Given the description of an element on the screen output the (x, y) to click on. 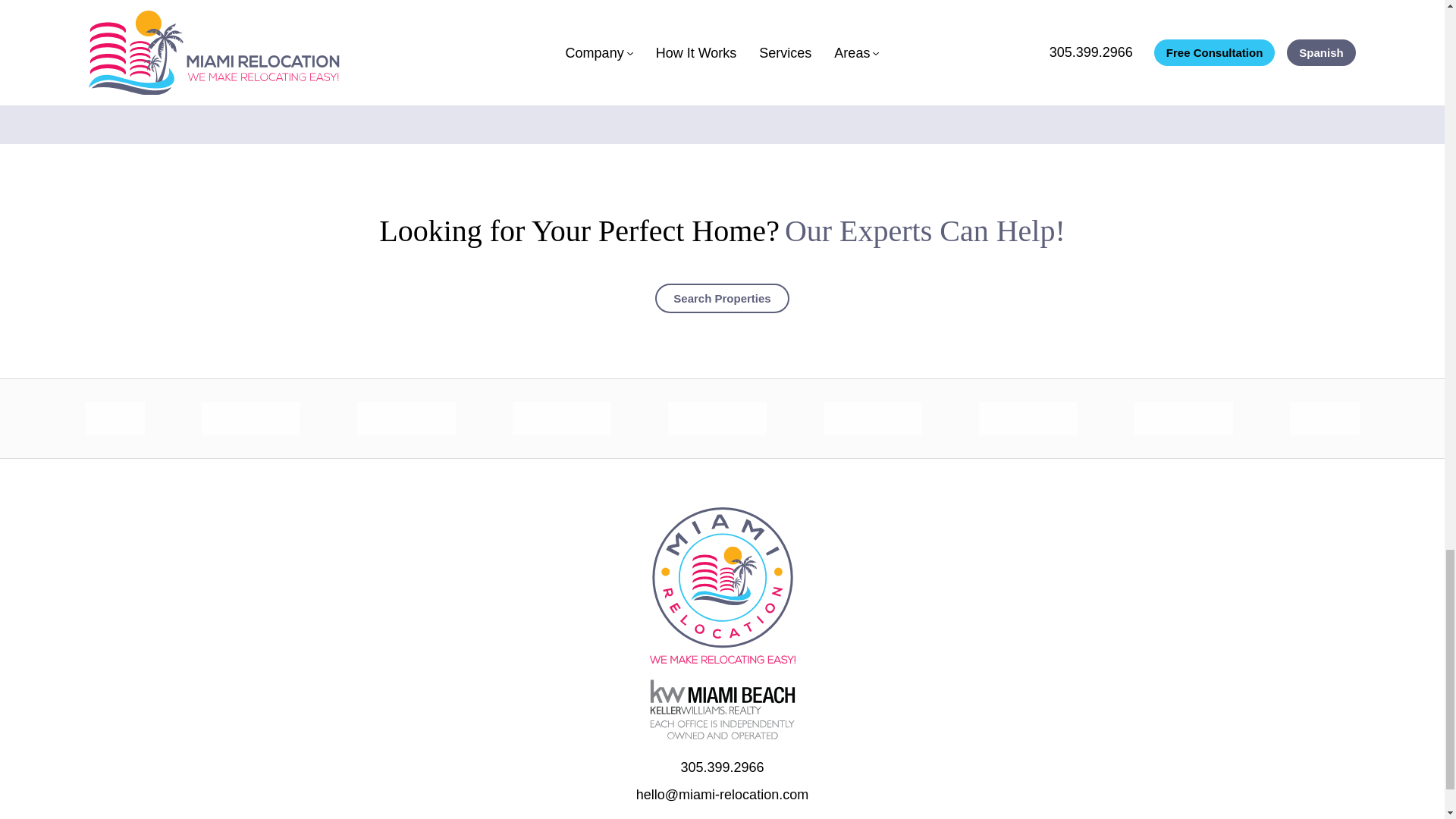
Search Properties (722, 297)
305.399.2966 (720, 767)
